Given the description of an element on the screen output the (x, y) to click on. 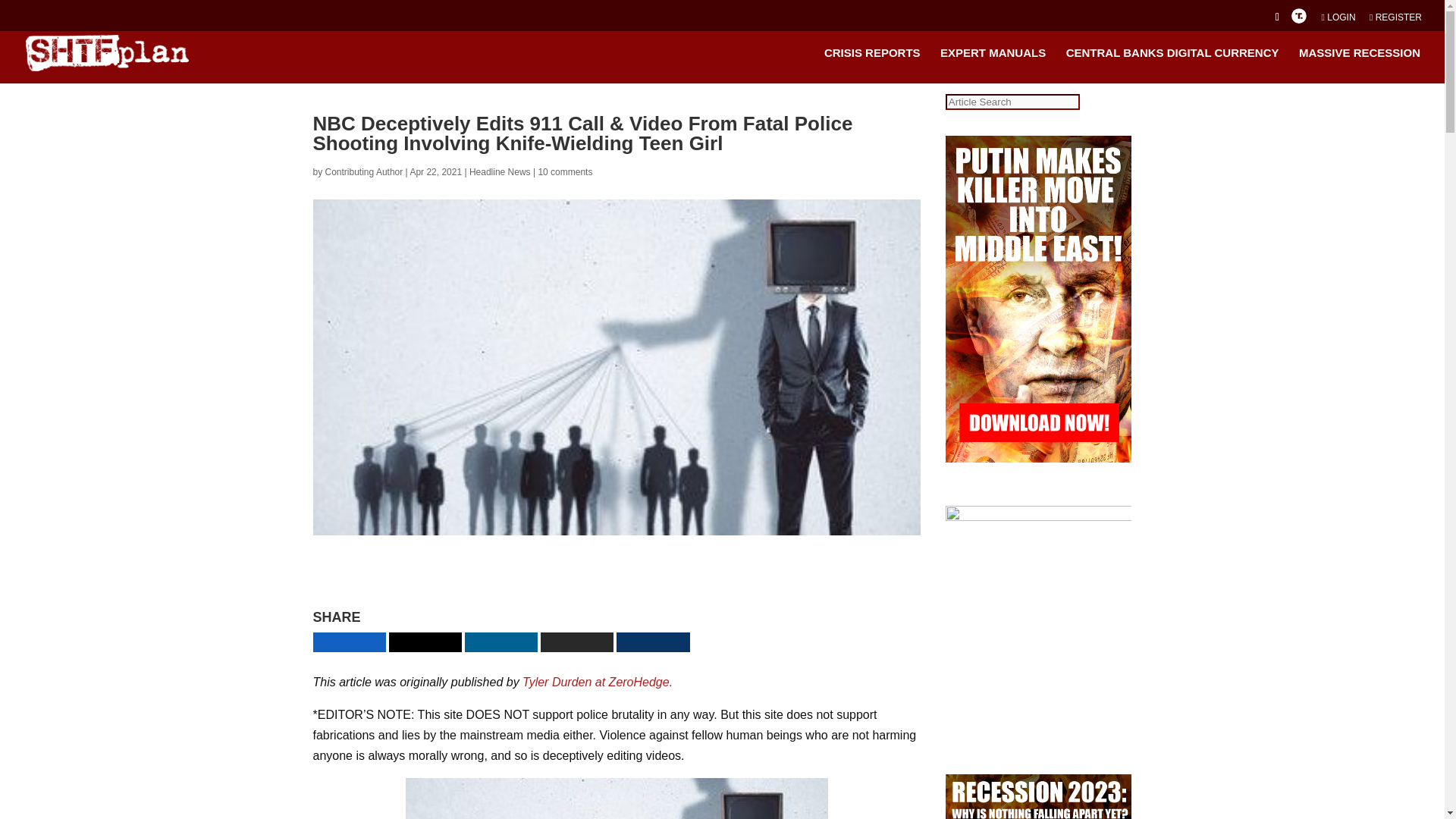
CRISIS REPORTS (872, 65)
Contributing Author (363, 172)
CENTRAL BANKS DIGITAL CURRENCY (1172, 65)
Tyler Durden at ZeroHedge.  (598, 681)
10 comments (564, 172)
Headline News (499, 172)
LOGIN (1337, 20)
REGISTER (1396, 20)
Download Now! (766, 581)
